Given the description of an element on the screen output the (x, y) to click on. 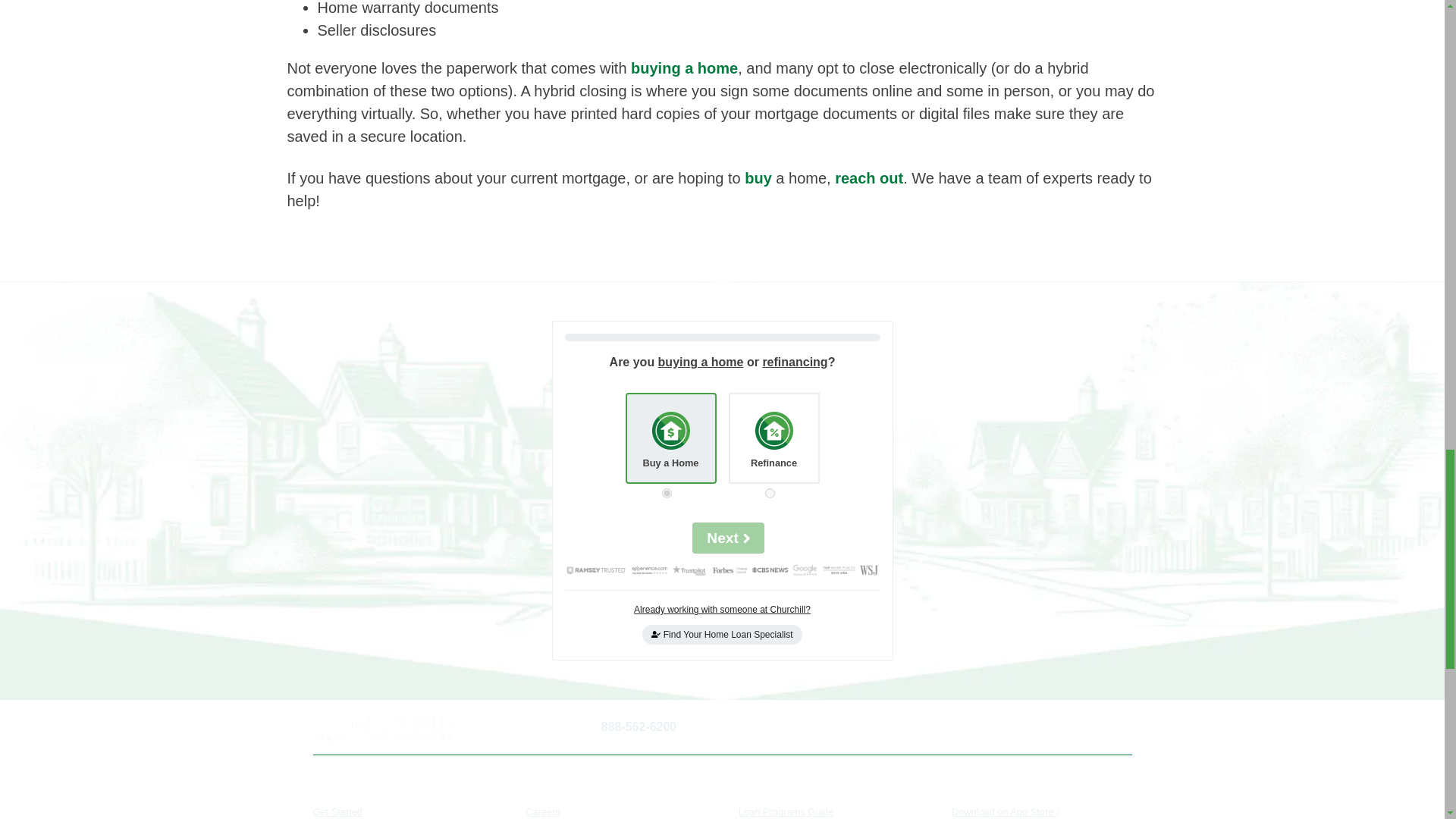
user-check (655, 634)
buy (757, 177)
Purchase (666, 492)
buying a home (682, 67)
Refinance (769, 492)
reach out (868, 177)
